Given the description of an element on the screen output the (x, y) to click on. 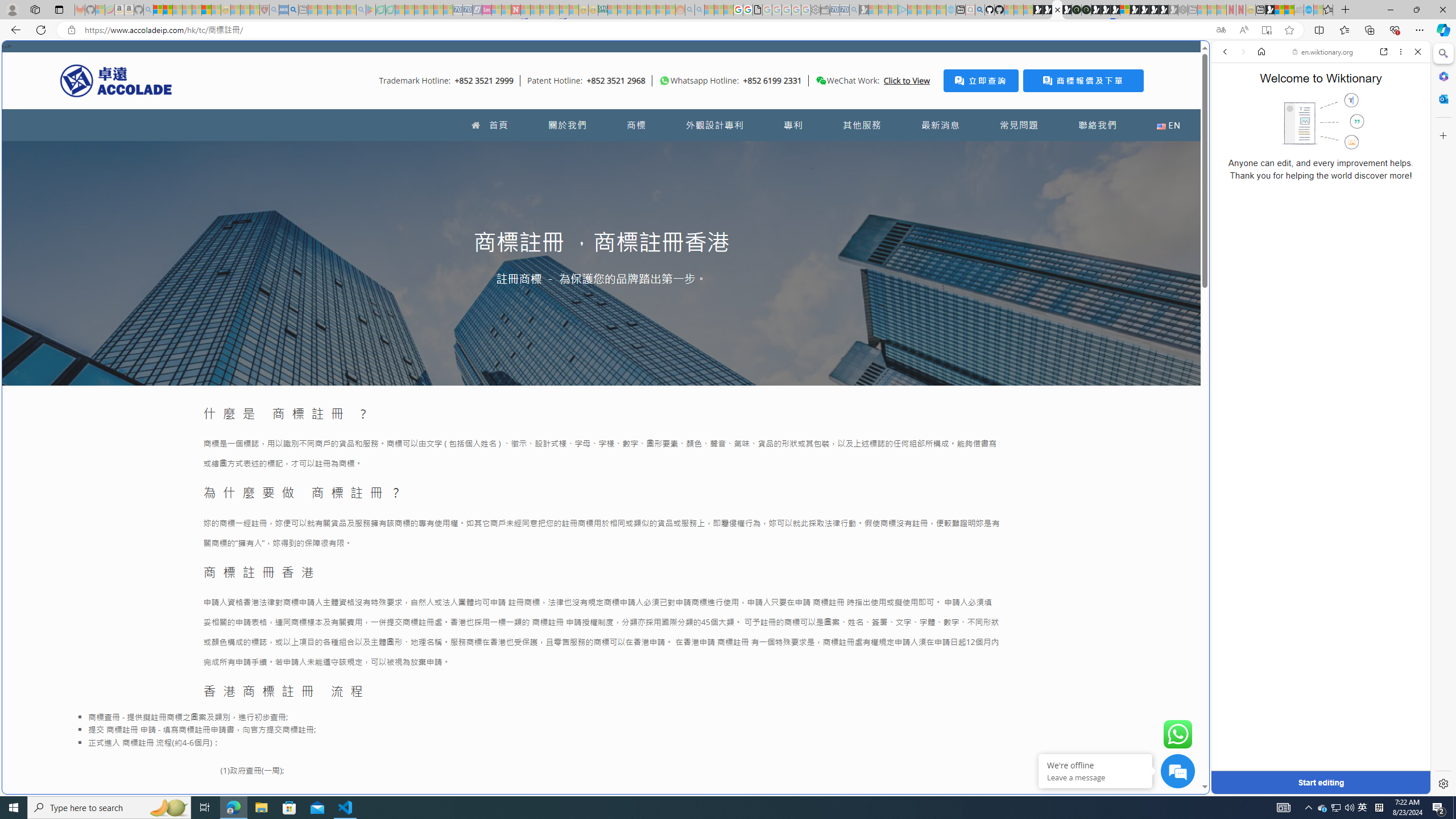
This site scope (1259, 102)
Kinda Frugal - MSN - Sleeping (651, 9)
